Given the description of an element on the screen output the (x, y) to click on. 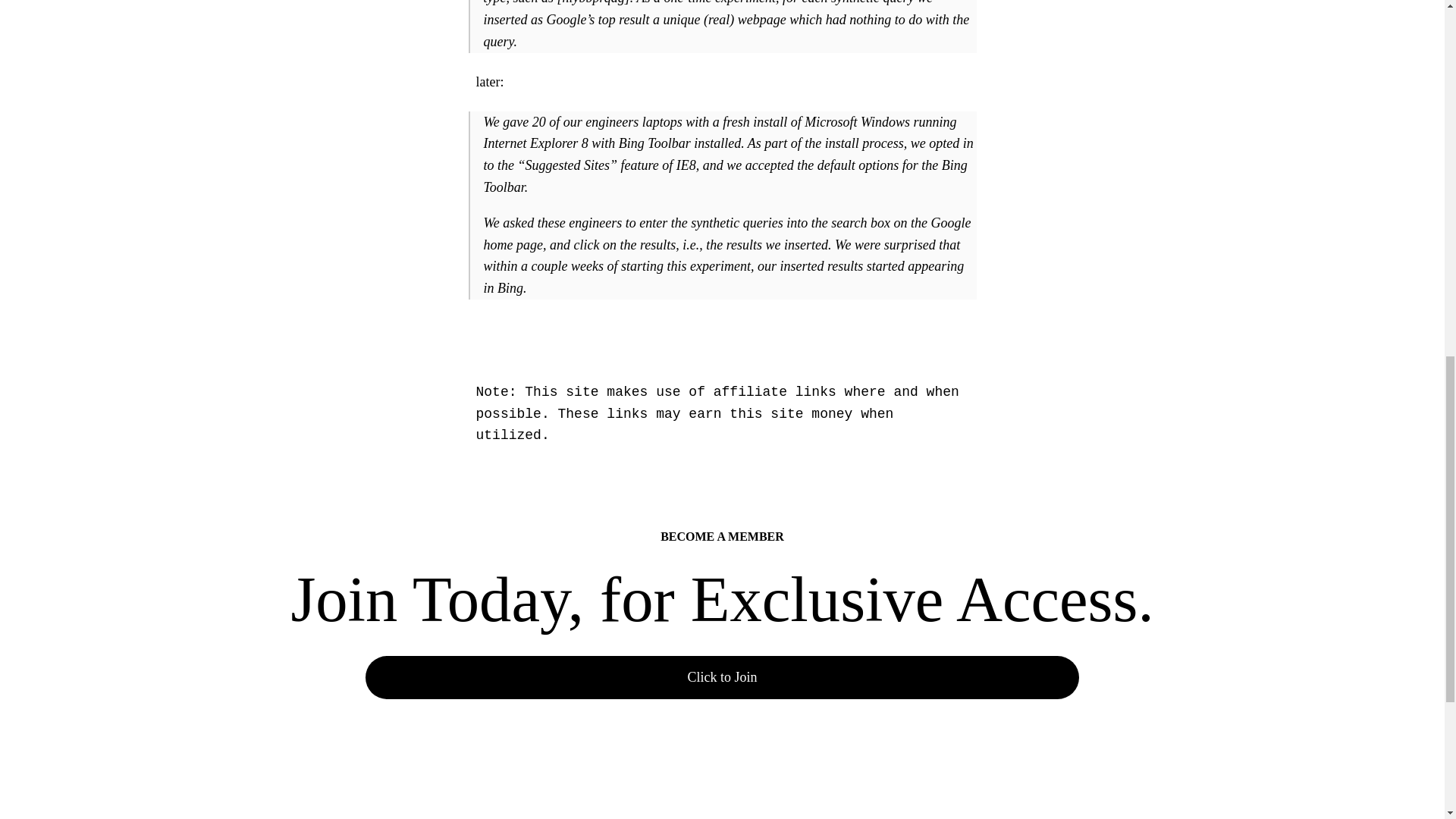
Click to Join (721, 677)
